Given the description of an element on the screen output the (x, y) to click on. 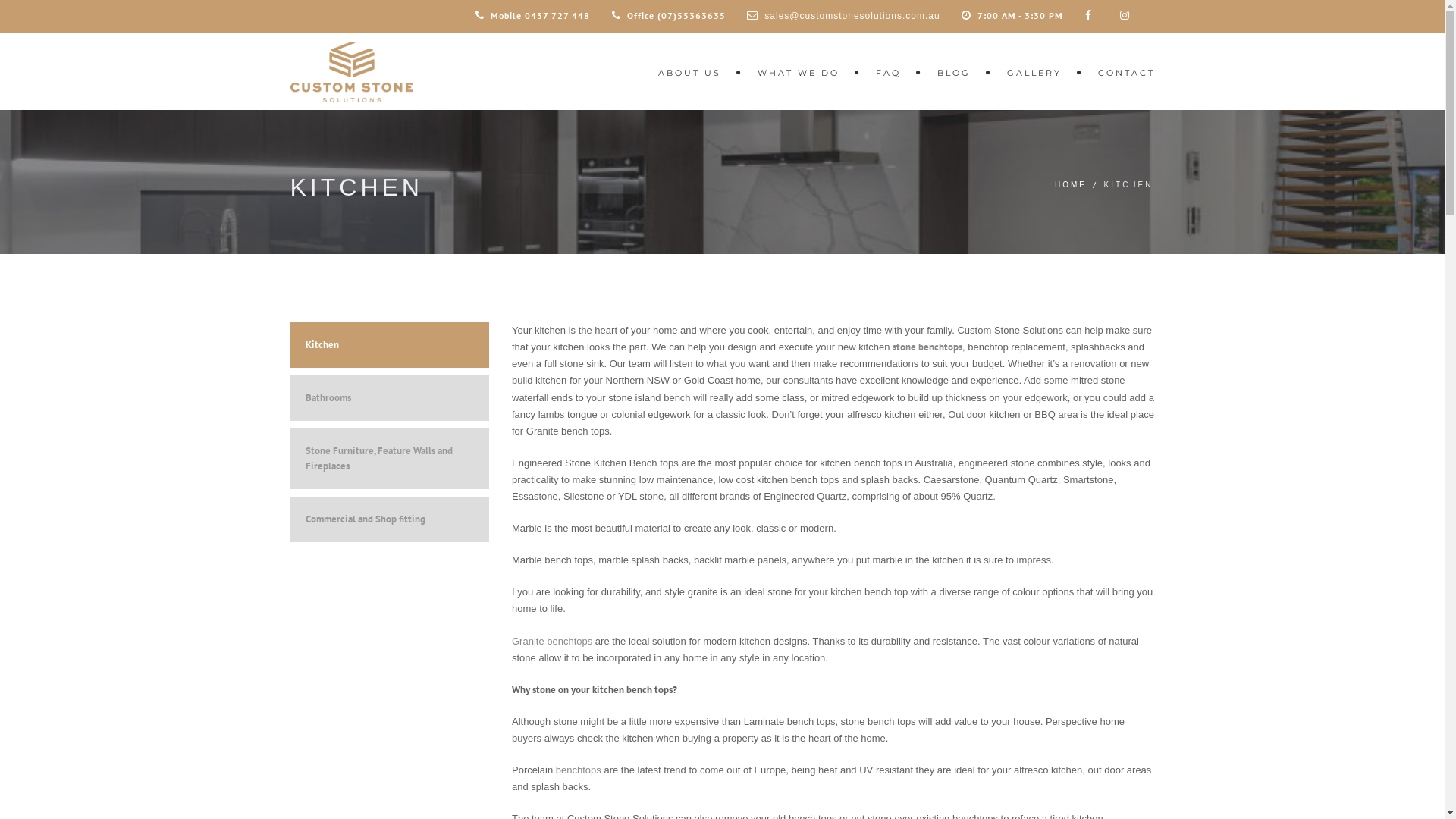
sales@customstonesolutions.com.au Element type: text (851, 15)
Office (07)55363635 Element type: text (668, 15)
Commercial and Shop fitting Element type: text (389, 519)
Granite benchtops Element type: text (551, 640)
GALLERY Element type: text (1036, 71)
Kitchen Element type: text (389, 344)
HOME Element type: text (1070, 184)
Stone Furniture, Feature Walls and Fireplaces Element type: text (389, 458)
Mobile 0437 727 448 Element type: text (532, 15)
FAQ Element type: text (890, 71)
stone benchtops Element type: text (927, 346)
WHAT WE DO Element type: text (800, 71)
benchtops Element type: text (578, 769)
BLOG Element type: text (956, 71)
CONTACT Element type: text (1118, 71)
ABOUT US Element type: text (692, 71)
Bathrooms Element type: text (389, 397)
